Given the description of an element on the screen output the (x, y) to click on. 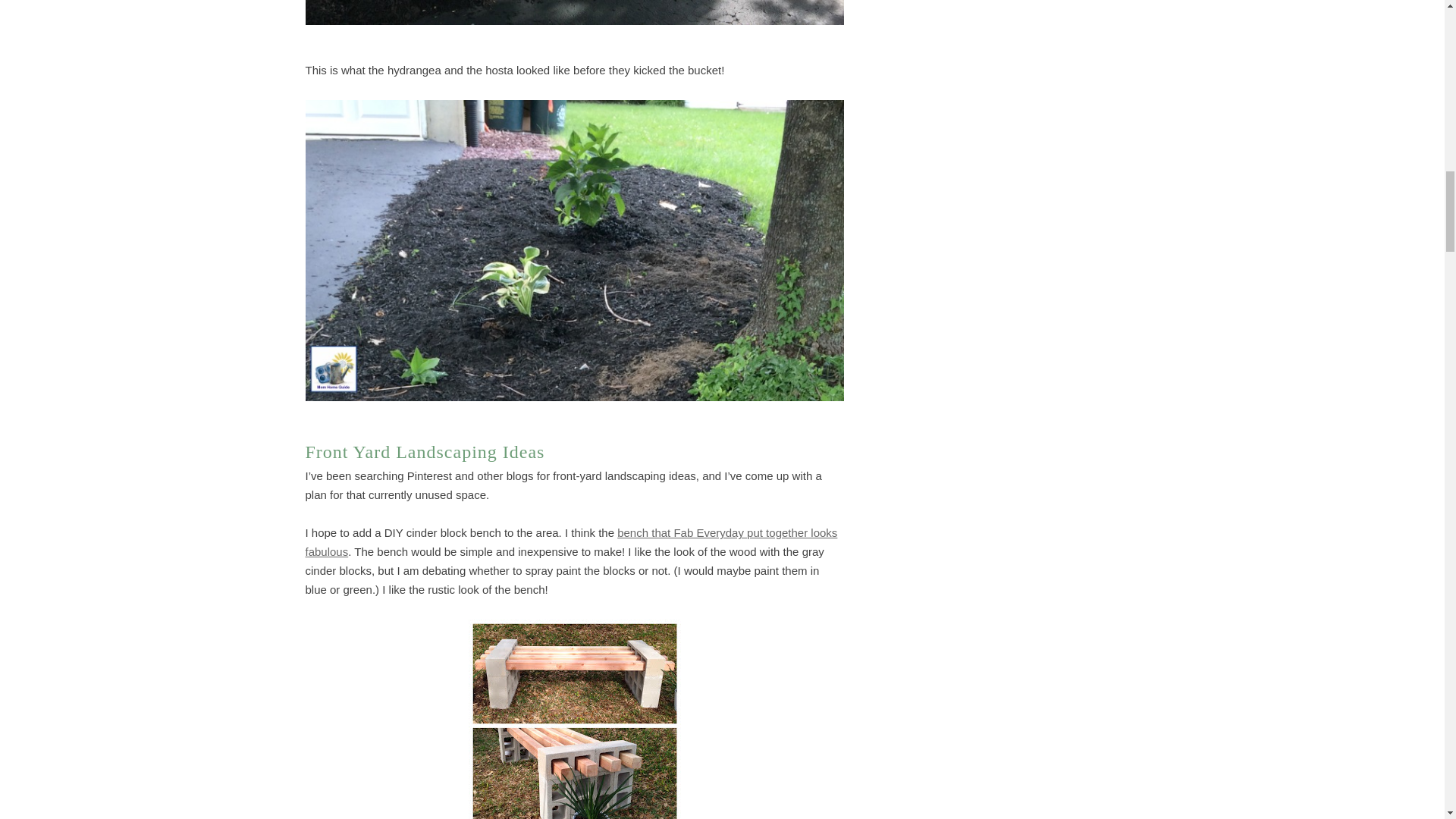
bench that Fab Everyday put together looks fabulous (570, 541)
